Given the description of an element on the screen output the (x, y) to click on. 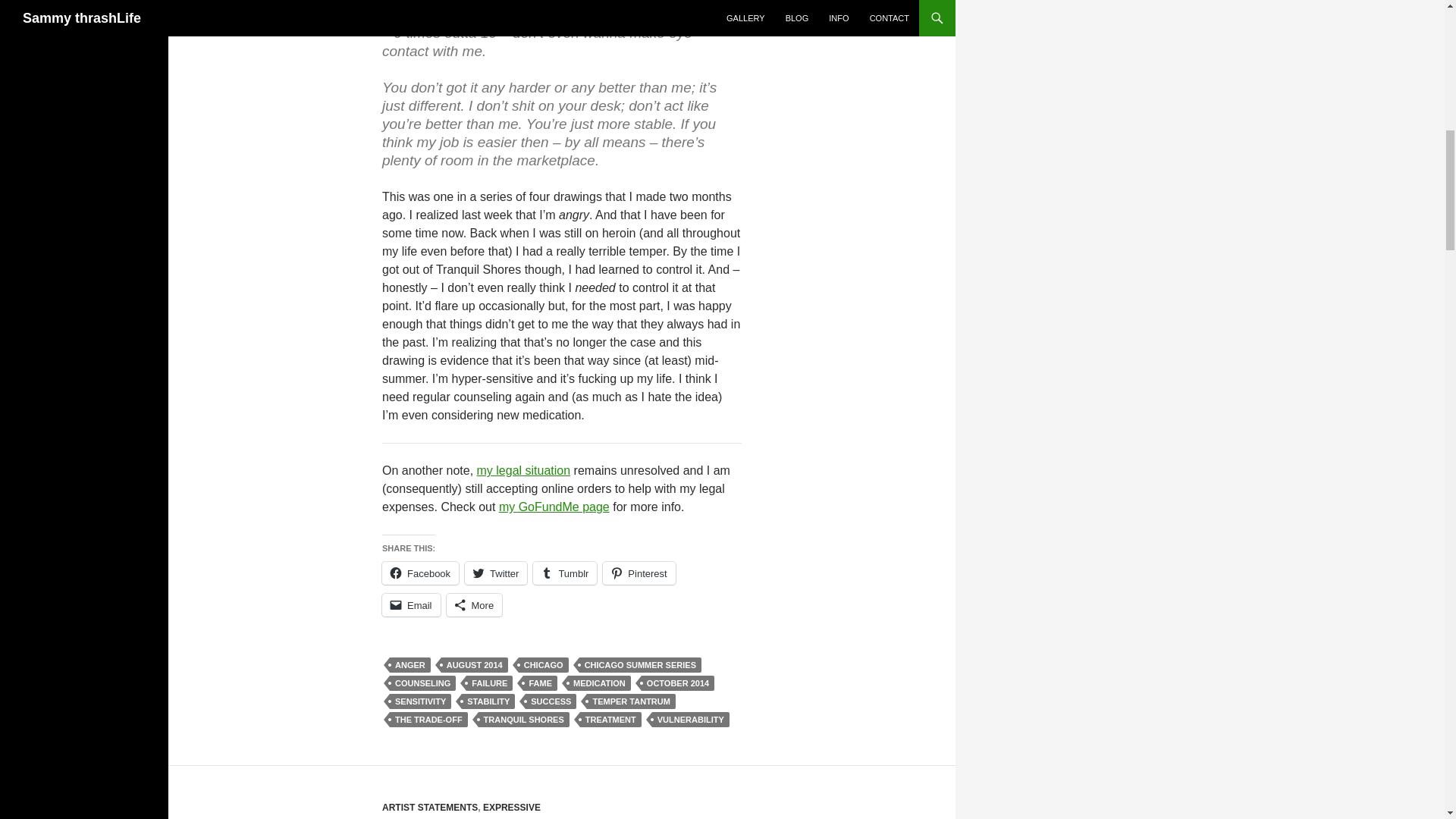
ANGER (410, 664)
Twitter (495, 572)
Email (411, 604)
Click to share on Tumblr (564, 572)
Sammy thrashLife on GoFundMe (554, 506)
MEDICATION (598, 683)
my legal situation (523, 470)
CHICAGO SUMMER SERIES (640, 664)
Click to share on Twitter (495, 572)
Click to share on Facebook (419, 572)
